Given the description of an element on the screen output the (x, y) to click on. 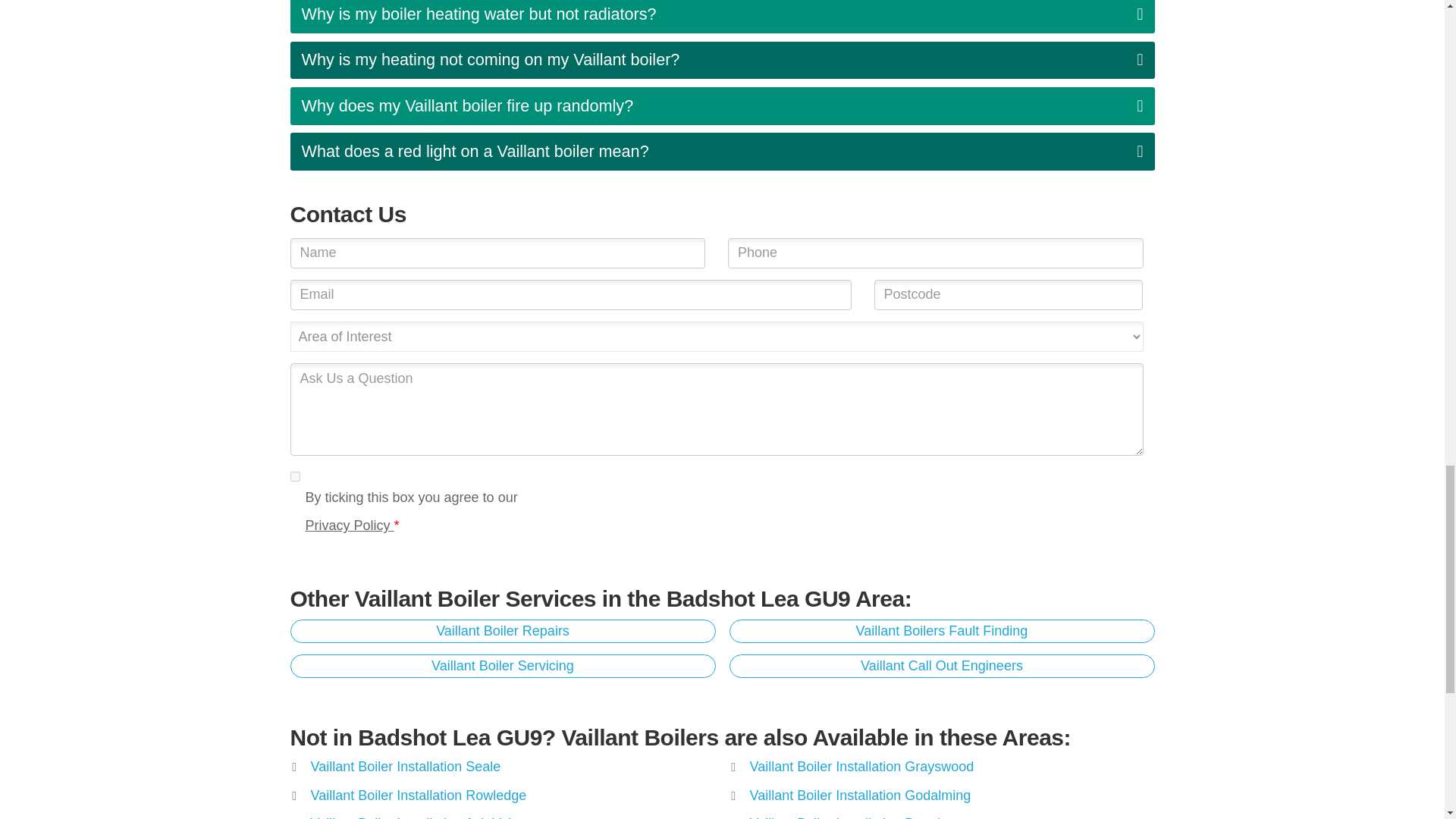
Why does my Vaillant boiler fire up randomly? (721, 105)
Why is my boiler heating water but not radiators? (721, 16)
Privacy Policy (348, 525)
Why is my heating not coming on my Vaillant boiler? (721, 60)
Vaillant Boiler Servicing (501, 666)
Vaillant Call Out Engineers (941, 666)
Vaillant Boilers Fault Finding (941, 630)
1 (294, 476)
What does a red light on a Vaillant boiler mean? (721, 151)
Vaillant Boiler Repairs (501, 630)
